Given the description of an element on the screen output the (x, y) to click on. 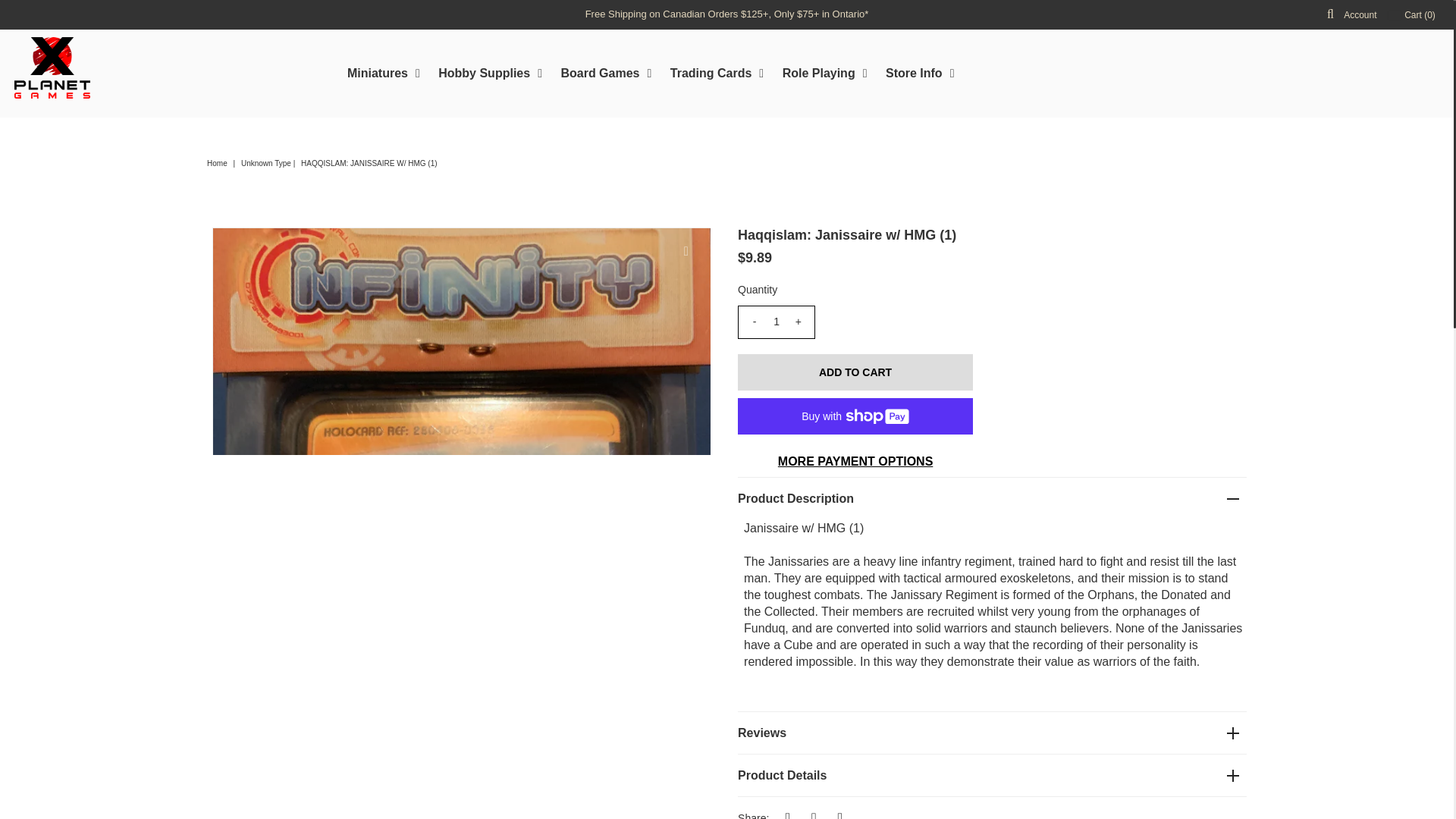
click to zoom-in (686, 251)
Home (218, 162)
Add to Cart (855, 371)
Share on Facebook (787, 812)
Share on Twitter (813, 812)
Share on Pinterest (839, 812)
